Given the description of an element on the screen output the (x, y) to click on. 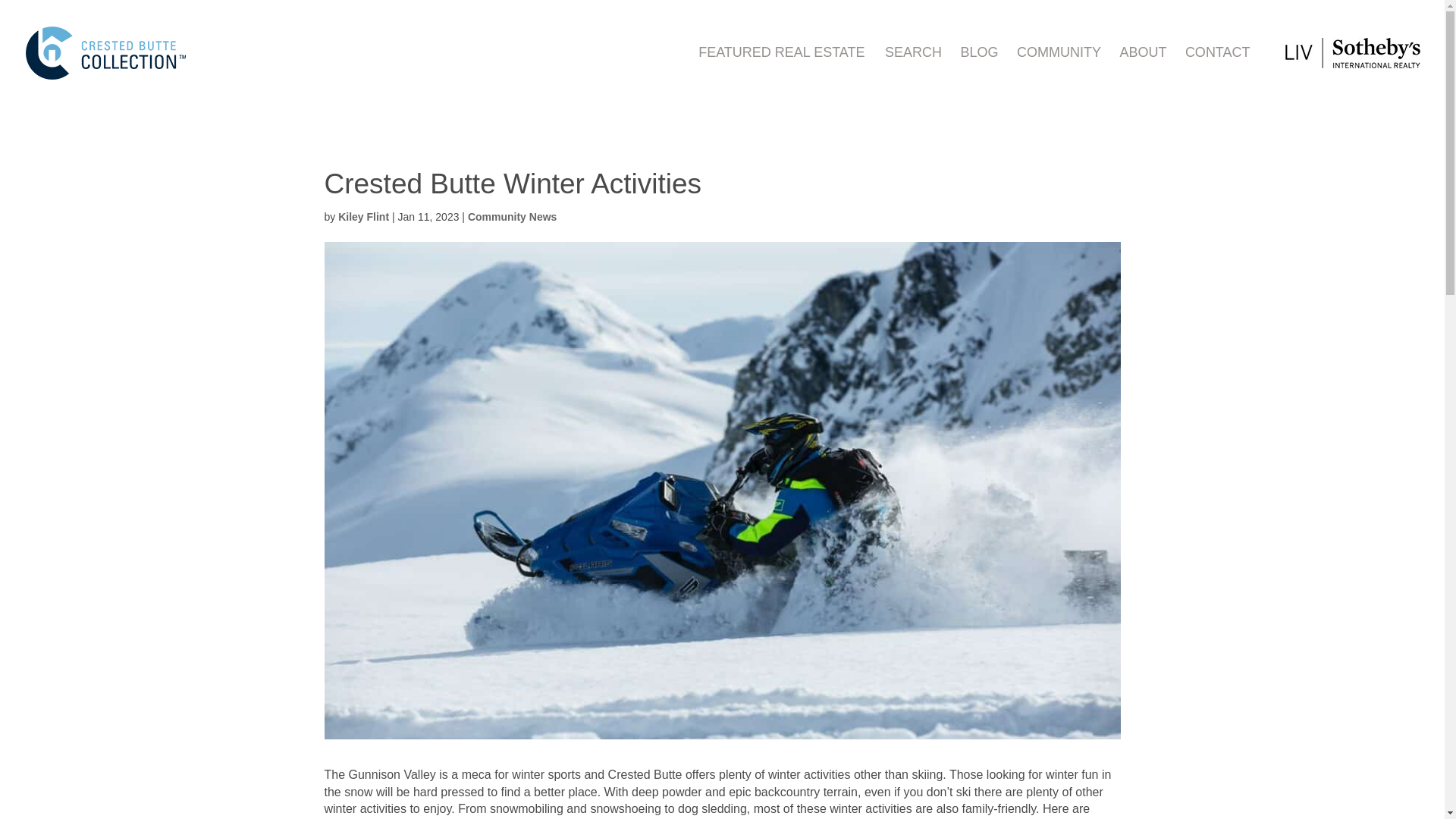
FEATURED REAL ESTATE (781, 70)
BLOG (986, 70)
COMMUNITY (1066, 70)
Posts by Kiley Flint (362, 216)
SEARCH (920, 70)
ABOUT (1149, 70)
